Given the description of an element on the screen output the (x, y) to click on. 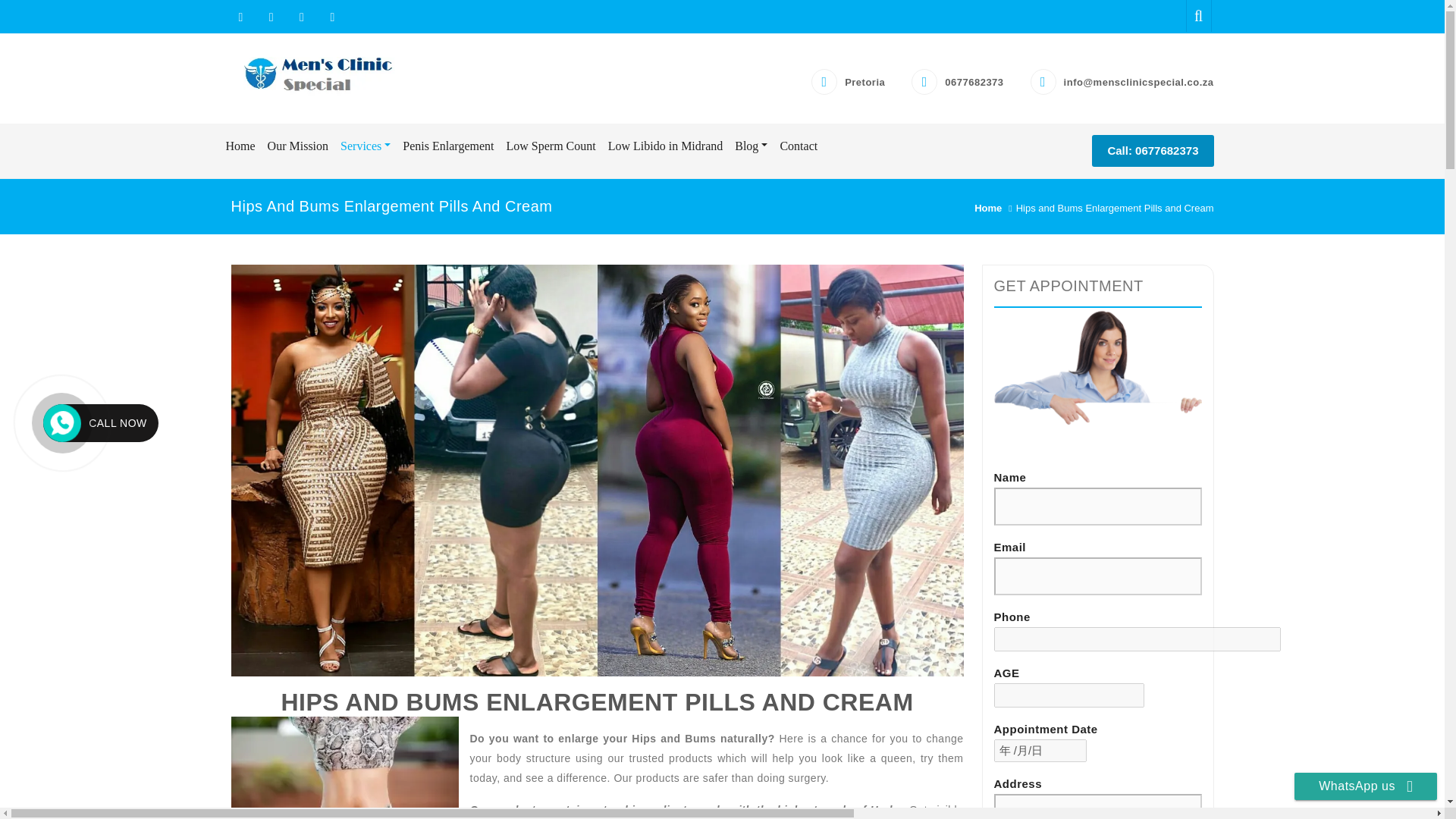
Home (240, 146)
Facebook (240, 17)
Low Libido in Midrand (665, 146)
Services (365, 146)
Twitter (271, 17)
Penis Enlargement (447, 146)
Our Mission (298, 146)
Pretoria (864, 81)
0677682373 (973, 81)
Blog (751, 146)
Low Sperm Count (550, 146)
Call Now (62, 422)
Pinterest (329, 17)
Linkedin (301, 17)
